Given the description of an element on the screen output the (x, y) to click on. 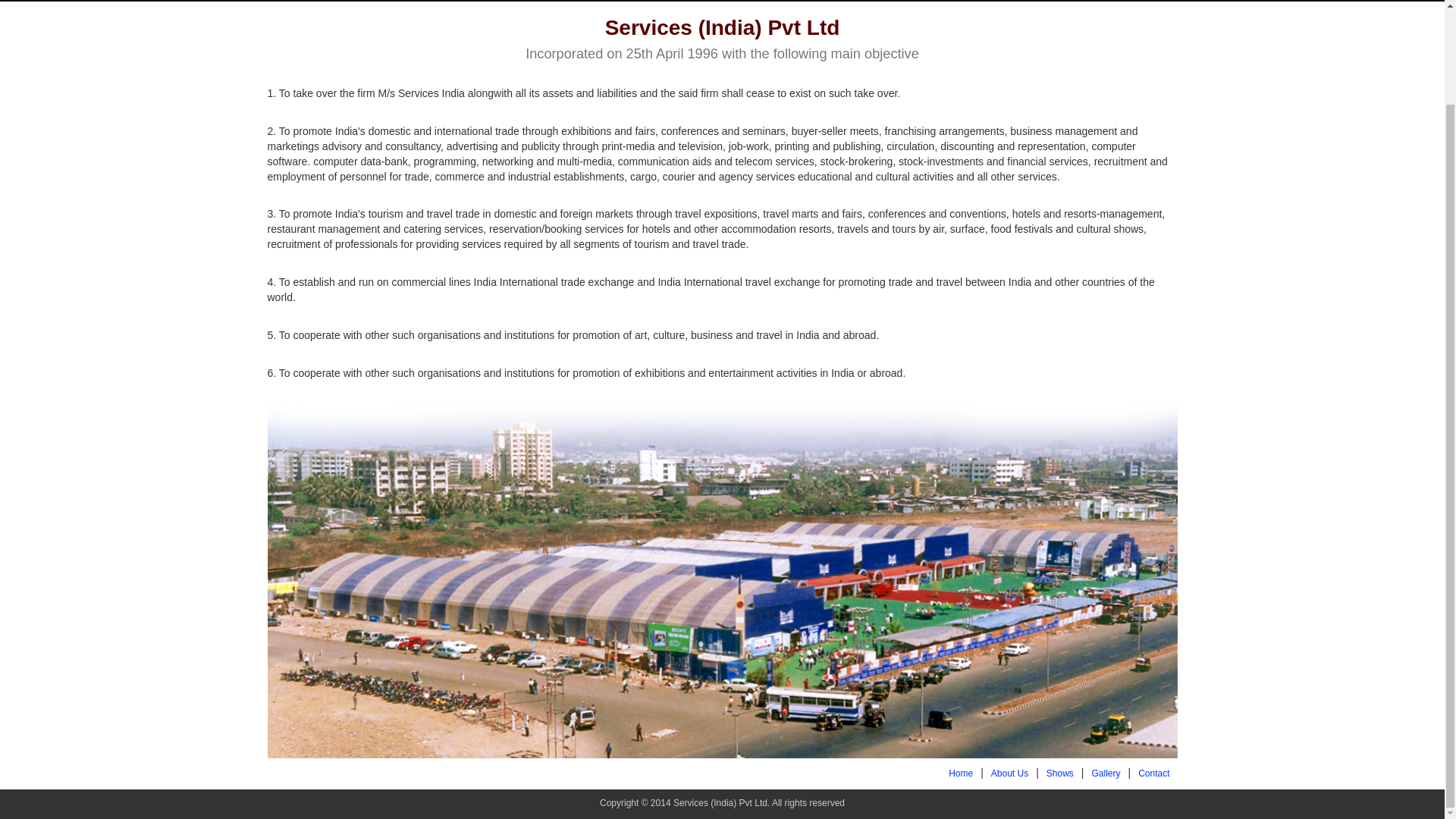
Home (960, 773)
Gallery (1104, 773)
About Us (1009, 773)
Contact (1153, 773)
Shows (1060, 773)
